Given the description of an element on the screen output the (x, y) to click on. 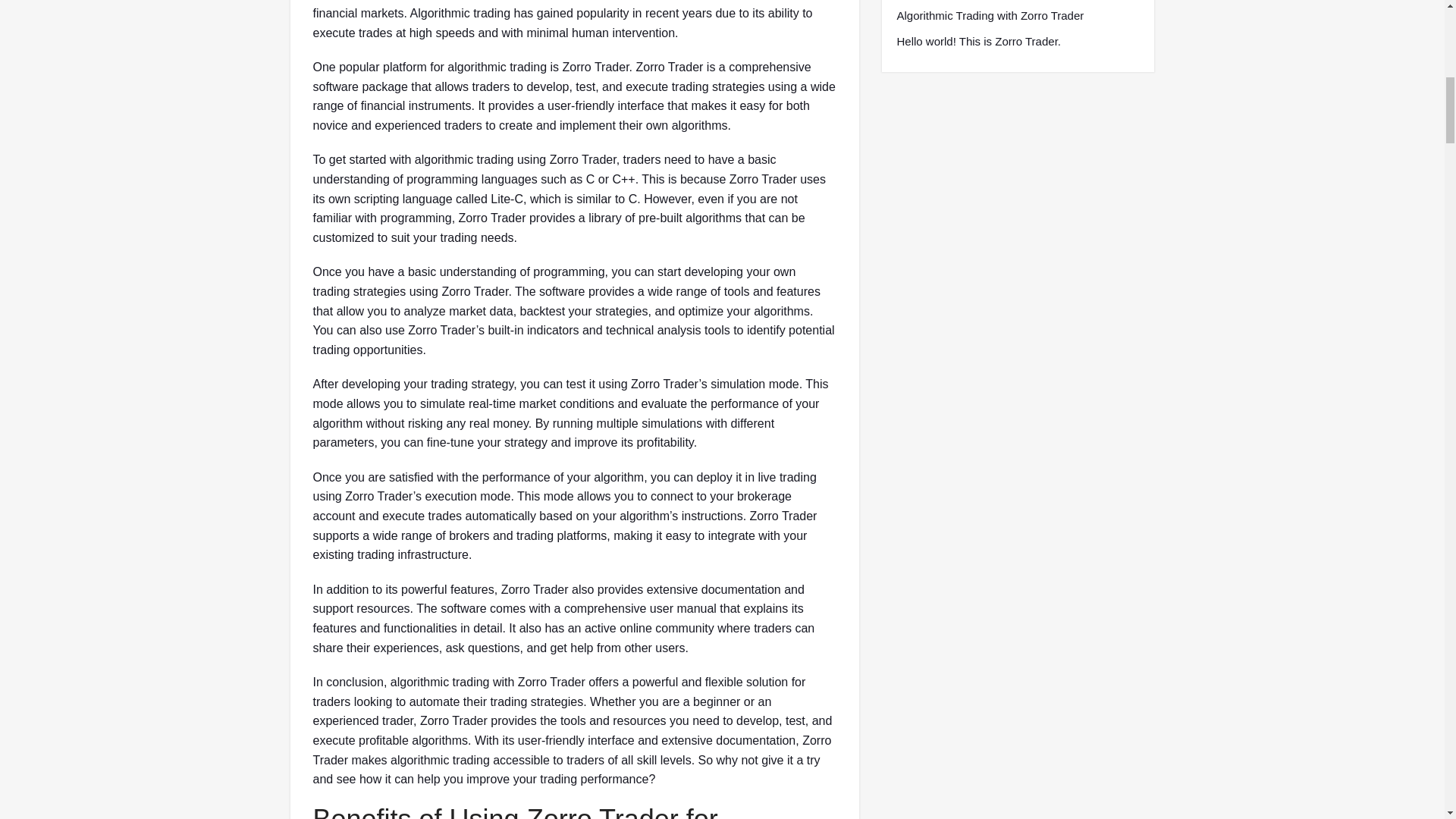
Algorithmic Trading with Zorro Trader (989, 15)
Hello world! This is Zorro Trader. (977, 41)
